Given the description of an element on the screen output the (x, y) to click on. 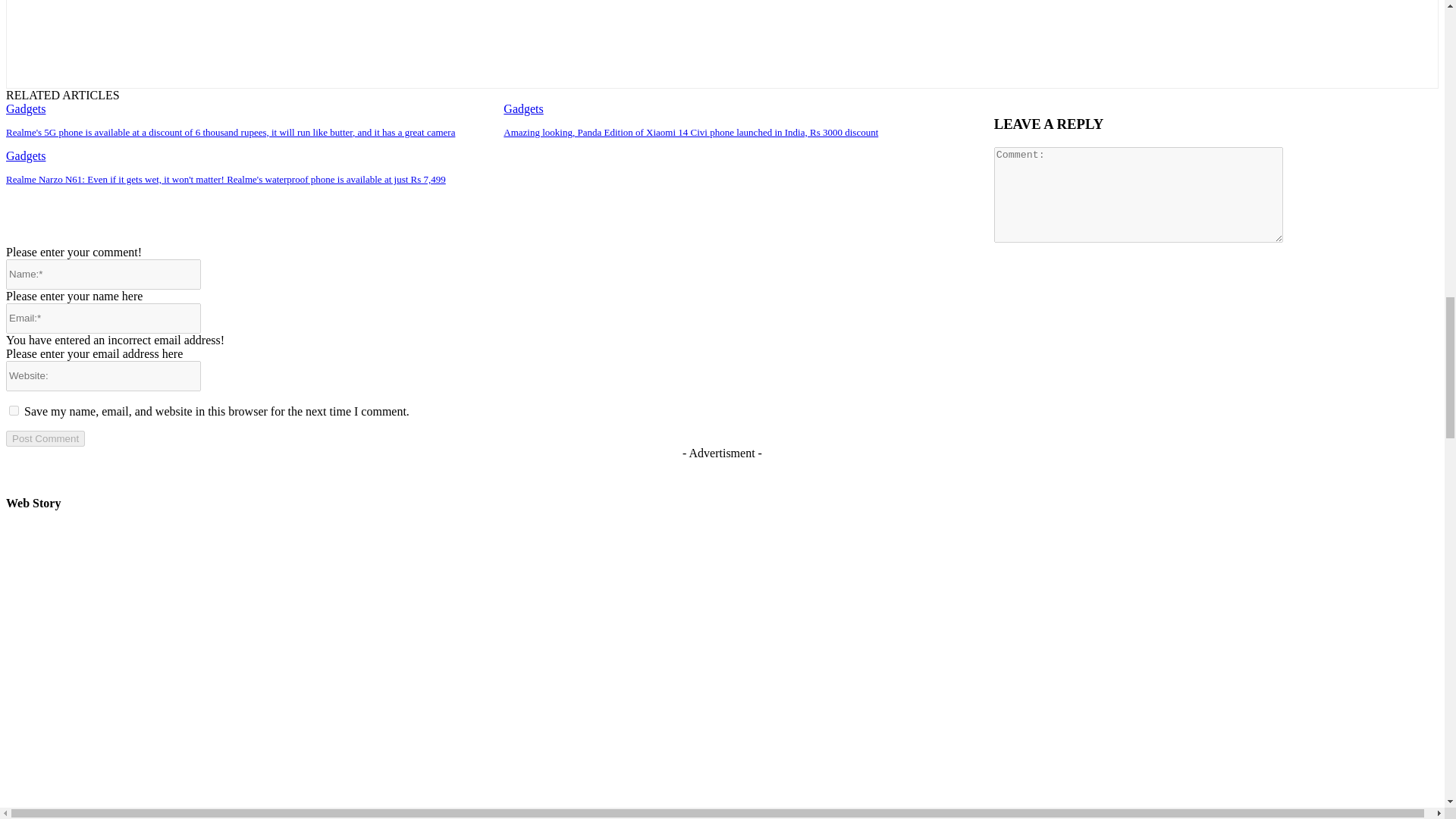
Post Comment (44, 438)
yes (13, 410)
